Given the description of an element on the screen output the (x, y) to click on. 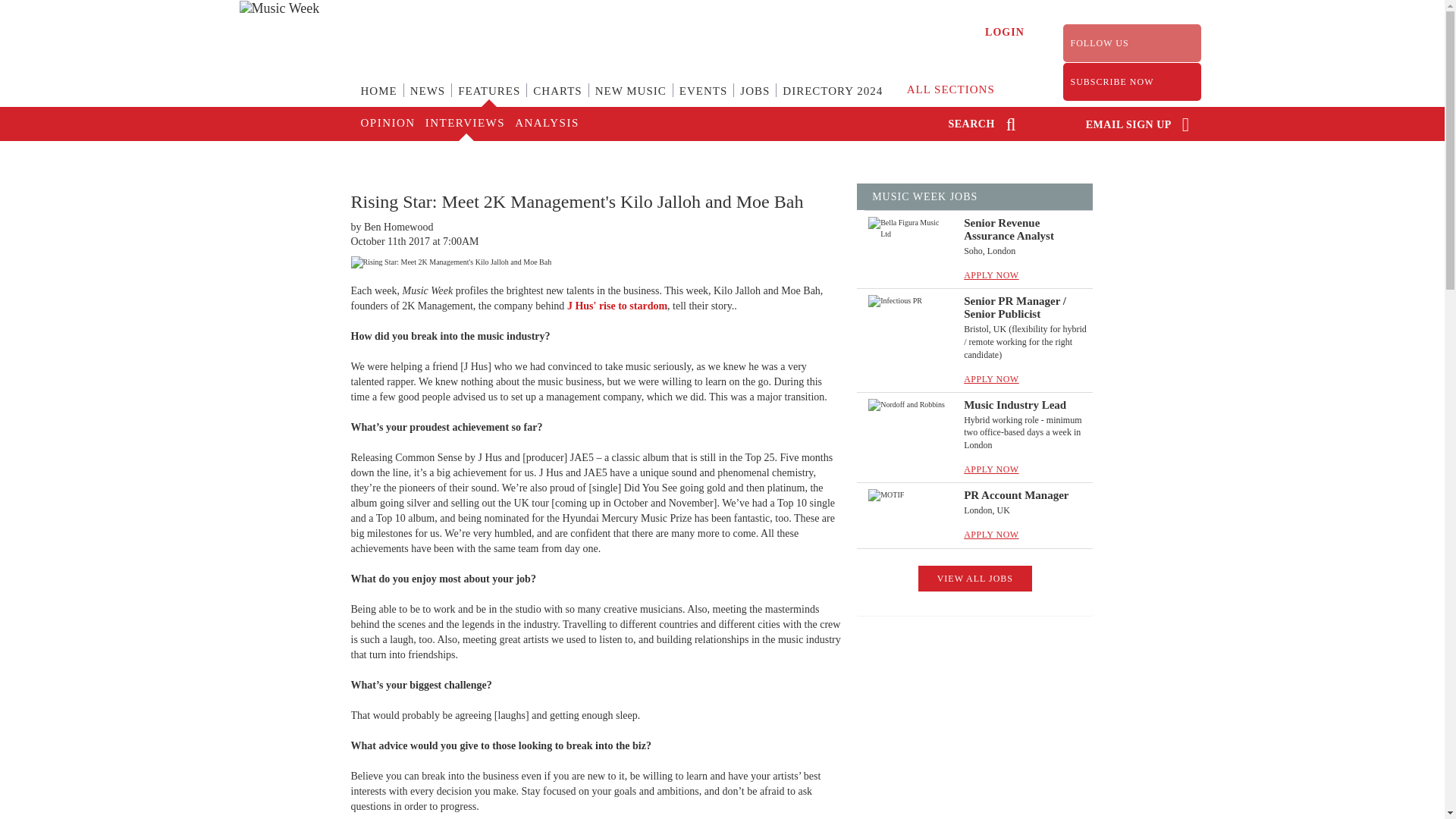
ANALYSIS (545, 123)
LOGIN (1005, 31)
NEW MUSIC (630, 100)
NEWS (427, 100)
EVENTS (702, 100)
CHARTS (557, 100)
FEATURES (488, 100)
INTERVIEWS (463, 123)
HOME (379, 100)
OPINION (387, 123)
